Given the description of an element on the screen output the (x, y) to click on. 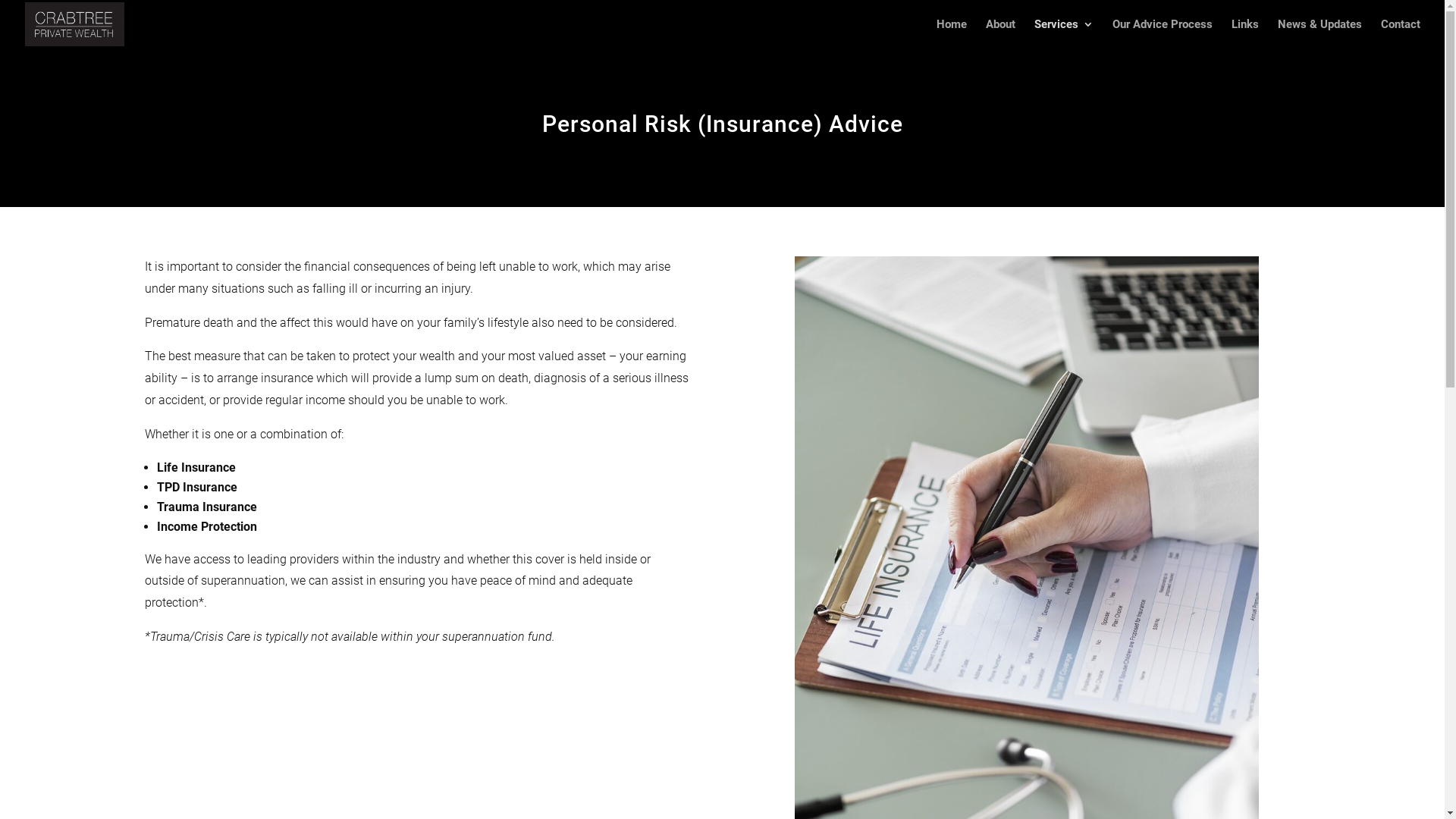
Links Element type: text (1244, 33)
News & Updates Element type: text (1319, 33)
Contact Element type: text (1400, 33)
Our Advice Process Element type: text (1162, 33)
About Element type: text (1000, 33)
Home Element type: text (951, 33)
Services Element type: text (1063, 33)
